Given the description of an element on the screen output the (x, y) to click on. 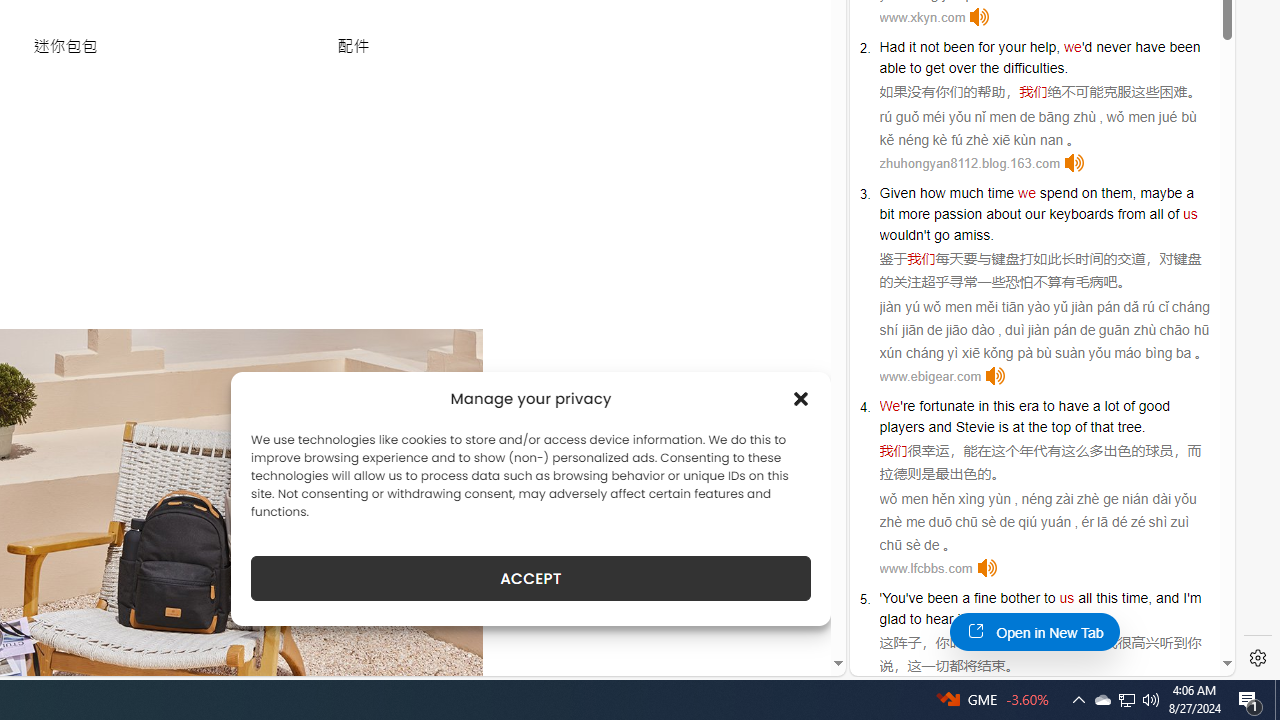
in (983, 405)
'm (1193, 597)
You (893, 597)
. (1060, 619)
to (1048, 405)
us (1066, 597)
